Given the description of an element on the screen output the (x, y) to click on. 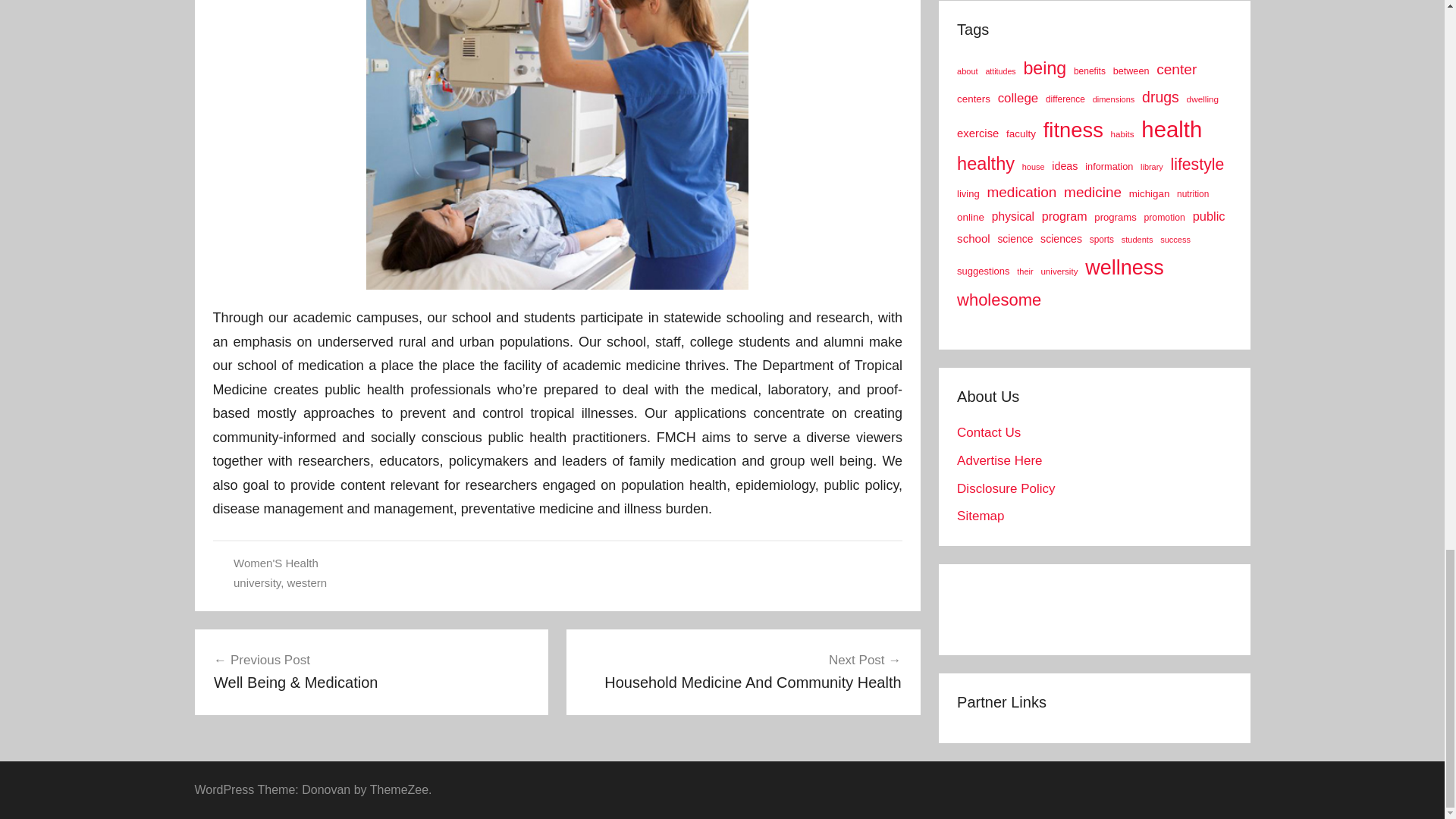
Women'S Health (275, 562)
university (256, 582)
